Given the description of an element on the screen output the (x, y) to click on. 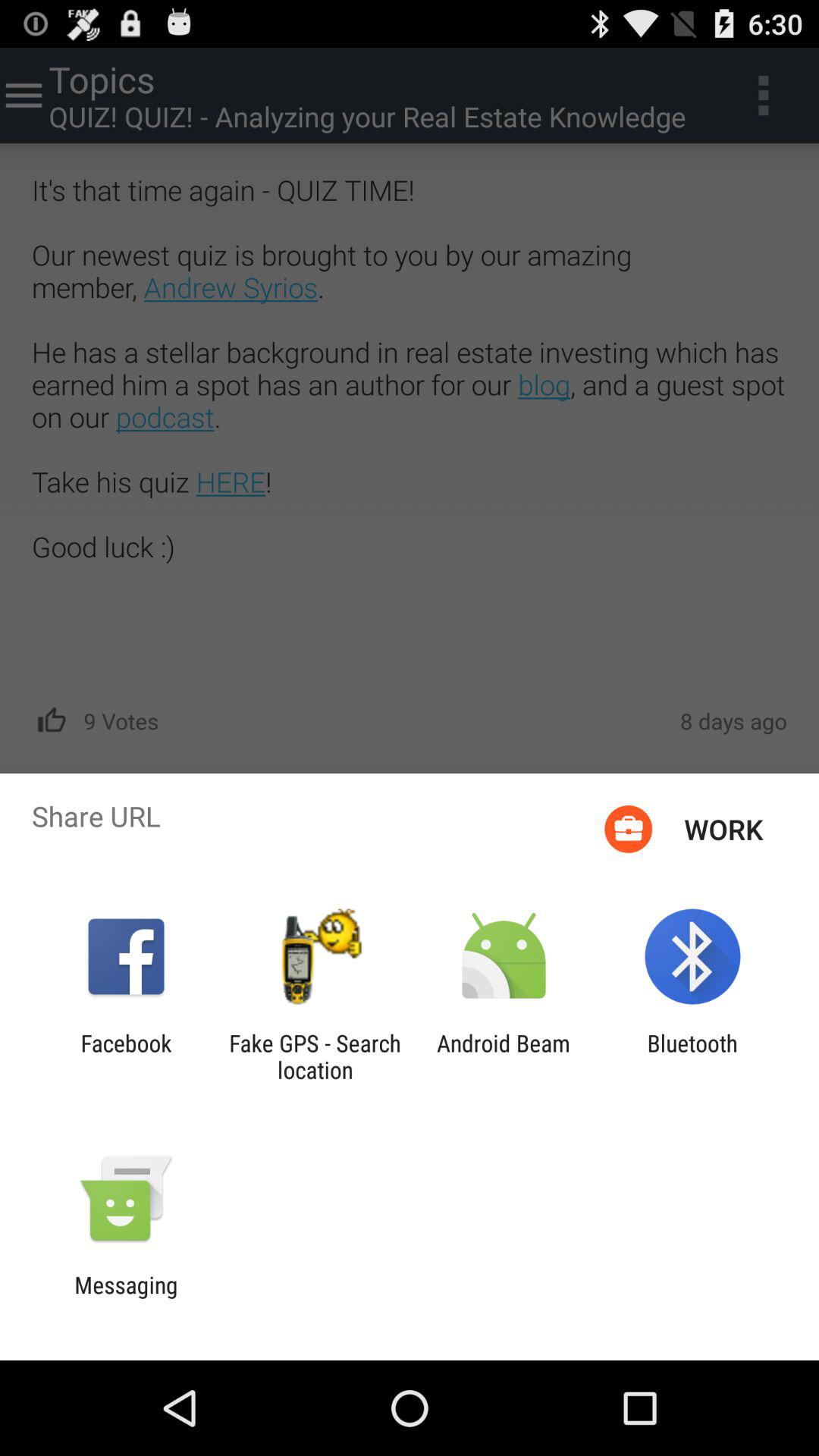
flip to android beam icon (503, 1056)
